Given the description of an element on the screen output the (x, y) to click on. 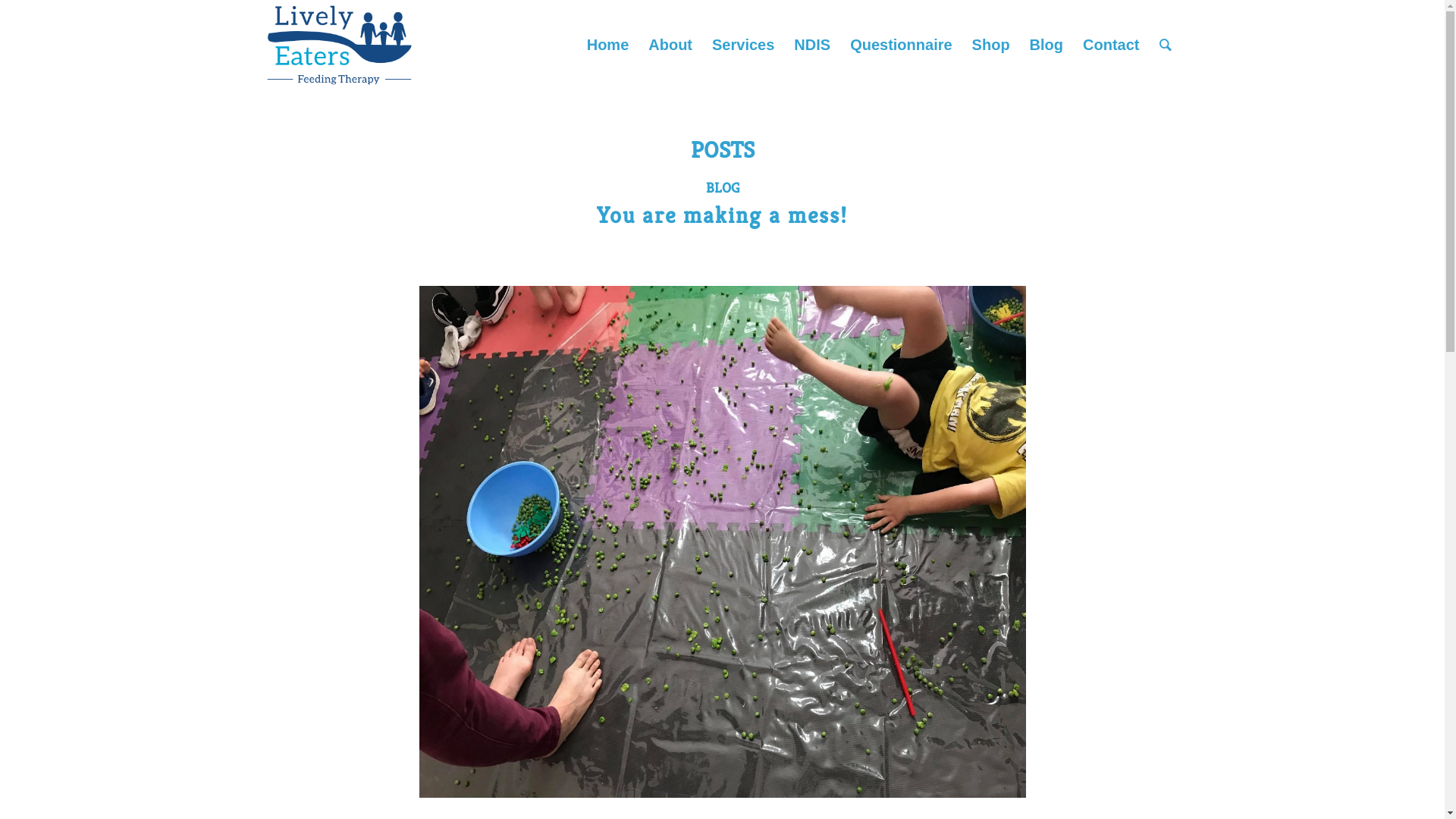
Blog Element type: text (1046, 44)
You are making a mess! Element type: text (721, 214)
NDIS Element type: text (812, 44)
Questionnaire Element type: text (900, 44)
Home Element type: text (608, 44)
Contact Element type: text (1110, 44)
Shop Element type: text (990, 44)
About Element type: text (670, 44)
Services Element type: text (743, 44)
BLOG Element type: text (721, 187)
